Given the description of an element on the screen output the (x, y) to click on. 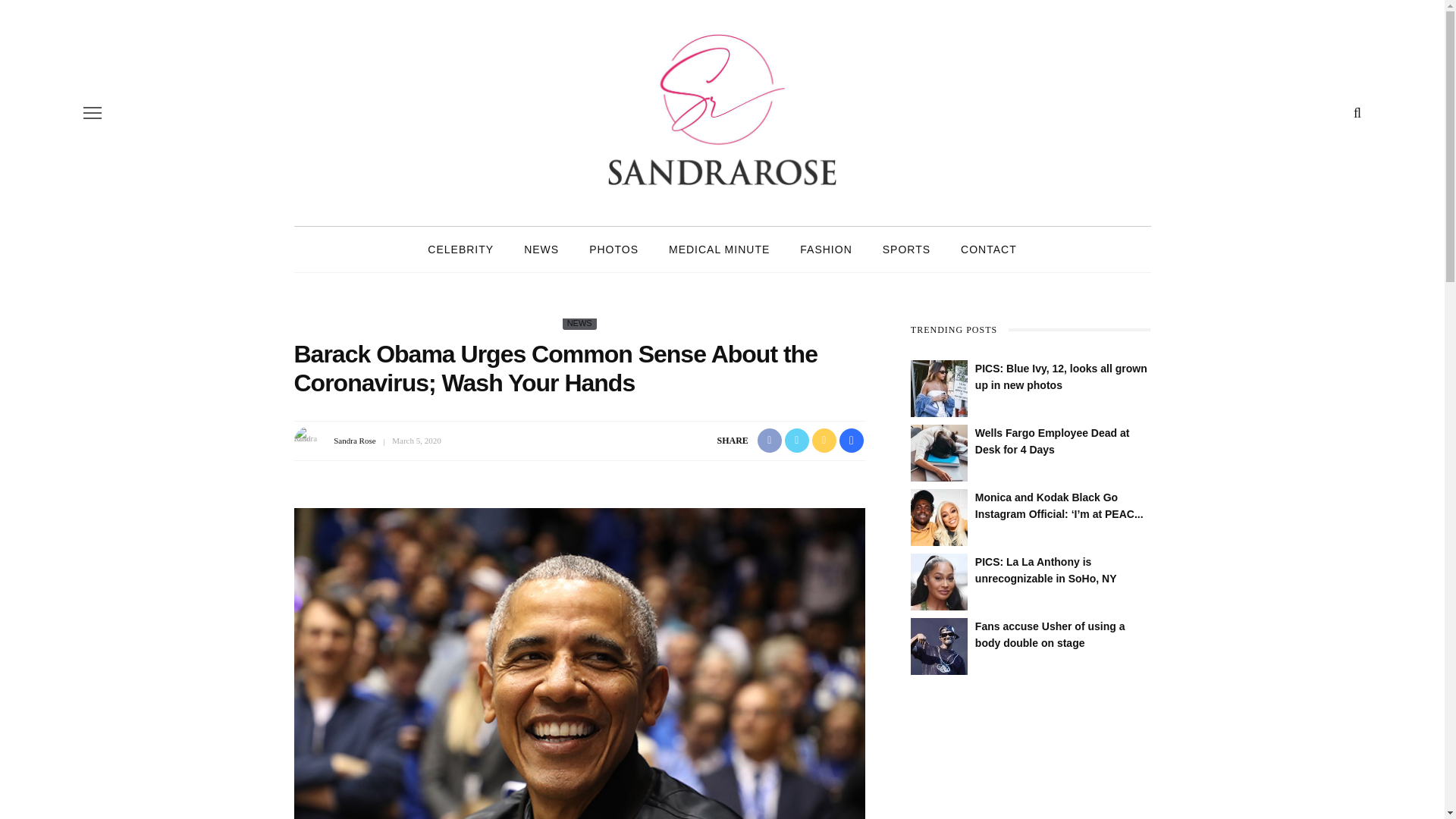
SPORTS (905, 248)
off canvas button (91, 113)
CELEBRITY (460, 248)
PHOTOS (613, 248)
Post by Sandra Rose (354, 440)
Sandra Rose (354, 440)
MEDICAL MINUTE (718, 248)
NEWS (540, 248)
CONTACT (988, 248)
FASHION (825, 248)
